Given the description of an element on the screen output the (x, y) to click on. 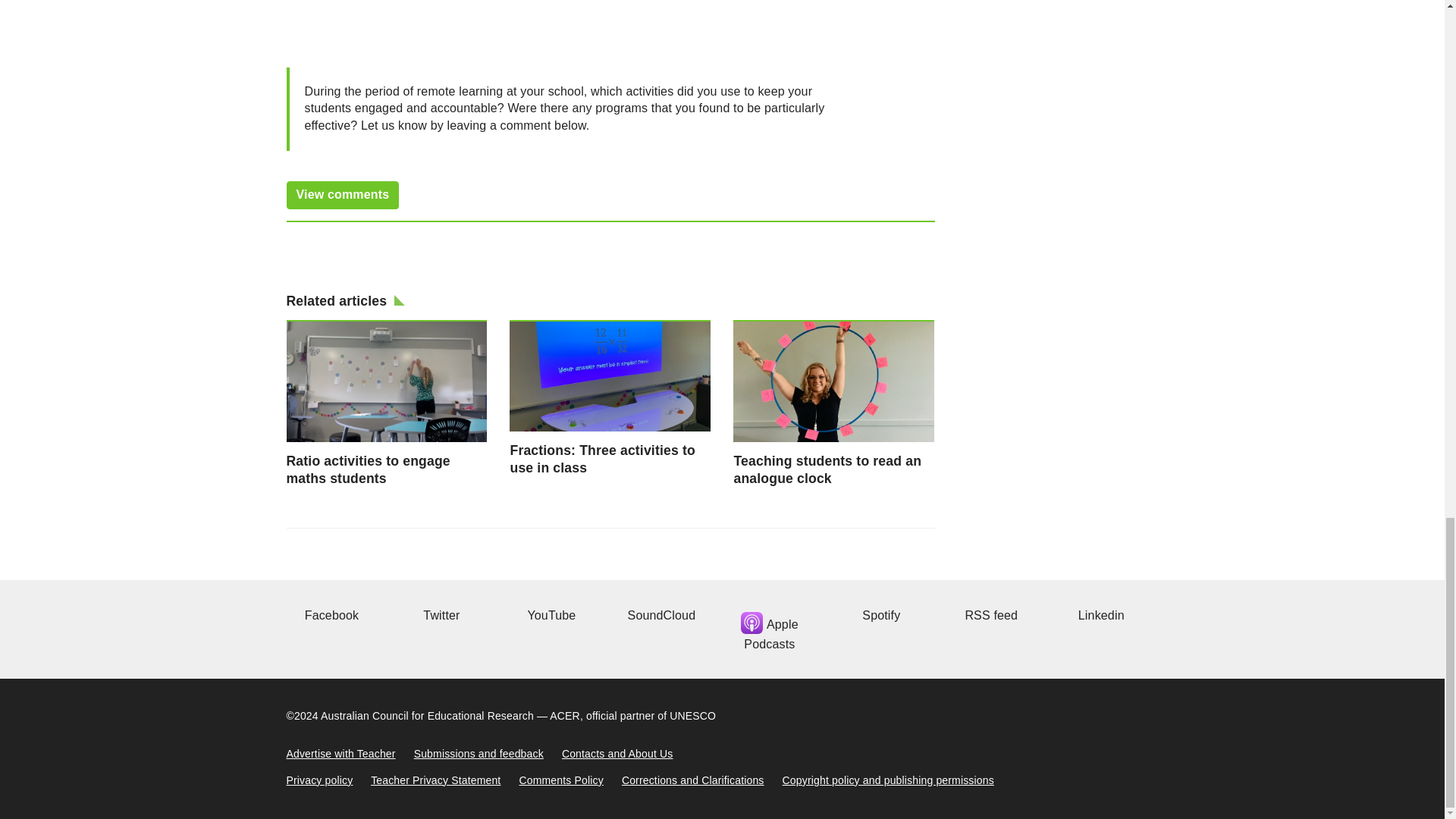
View comments (342, 194)
Fractions: Three activities to use in class (609, 397)
Teacher on Apple Podcasts (769, 628)
Teacher on SoundCloud (659, 615)
Teaching students to read an analogue clock (833, 402)
Australian Council for Educational Research (427, 715)
Teacher on Facebook (330, 615)
Teacher on Spotify (879, 615)
Ratio activities to engage maths students (386, 402)
Teacher Linkedin (1099, 615)
Teacher on YouTube (548, 615)
Teacher on Twitter (439, 615)
Teacher RSS (988, 615)
